Given the description of an element on the screen output the (x, y) to click on. 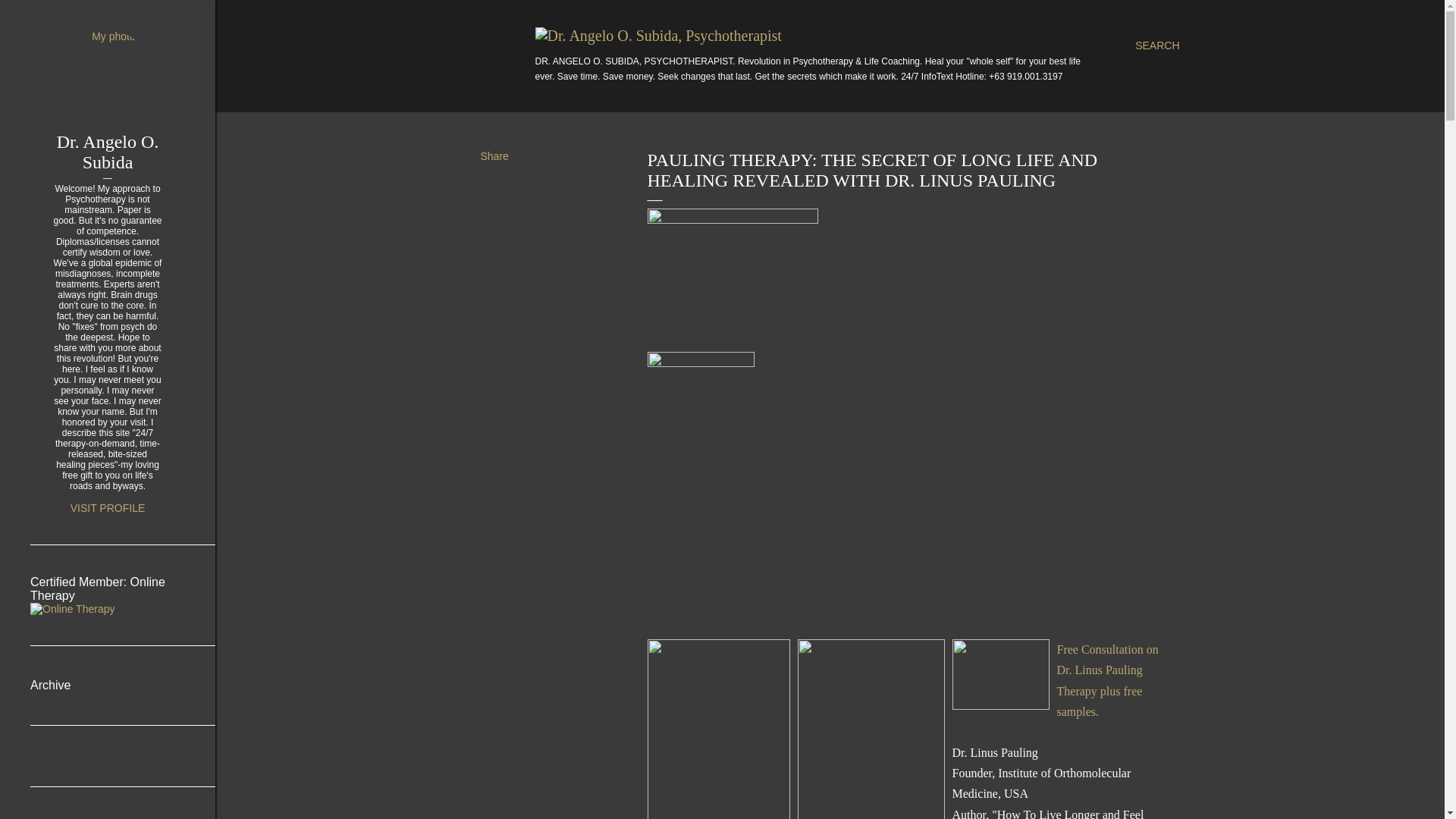
SEARCH (1157, 45)
Share (494, 155)
Dr. Angelo O. Subida (107, 151)
VISIT PROFILE (107, 508)
